Given the description of an element on the screen output the (x, y) to click on. 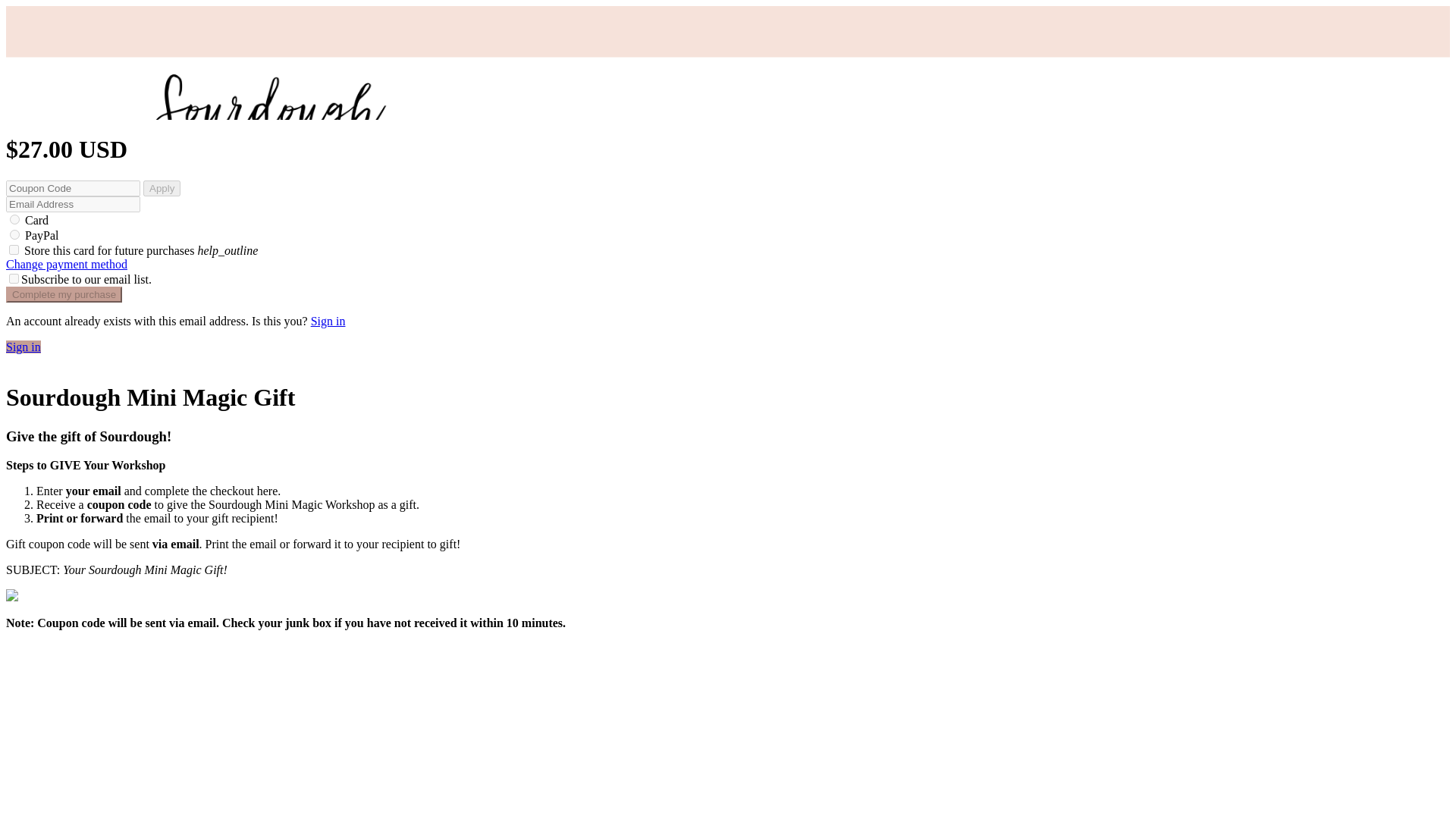
paypal (15, 234)
Complete my purchase (63, 294)
1 (13, 278)
Apply (161, 188)
Complete my purchase (63, 294)
Change payment method (66, 264)
Sign in (328, 320)
1 (13, 249)
stripe (15, 219)
Sign in (22, 346)
